Given the description of an element on the screen output the (x, y) to click on. 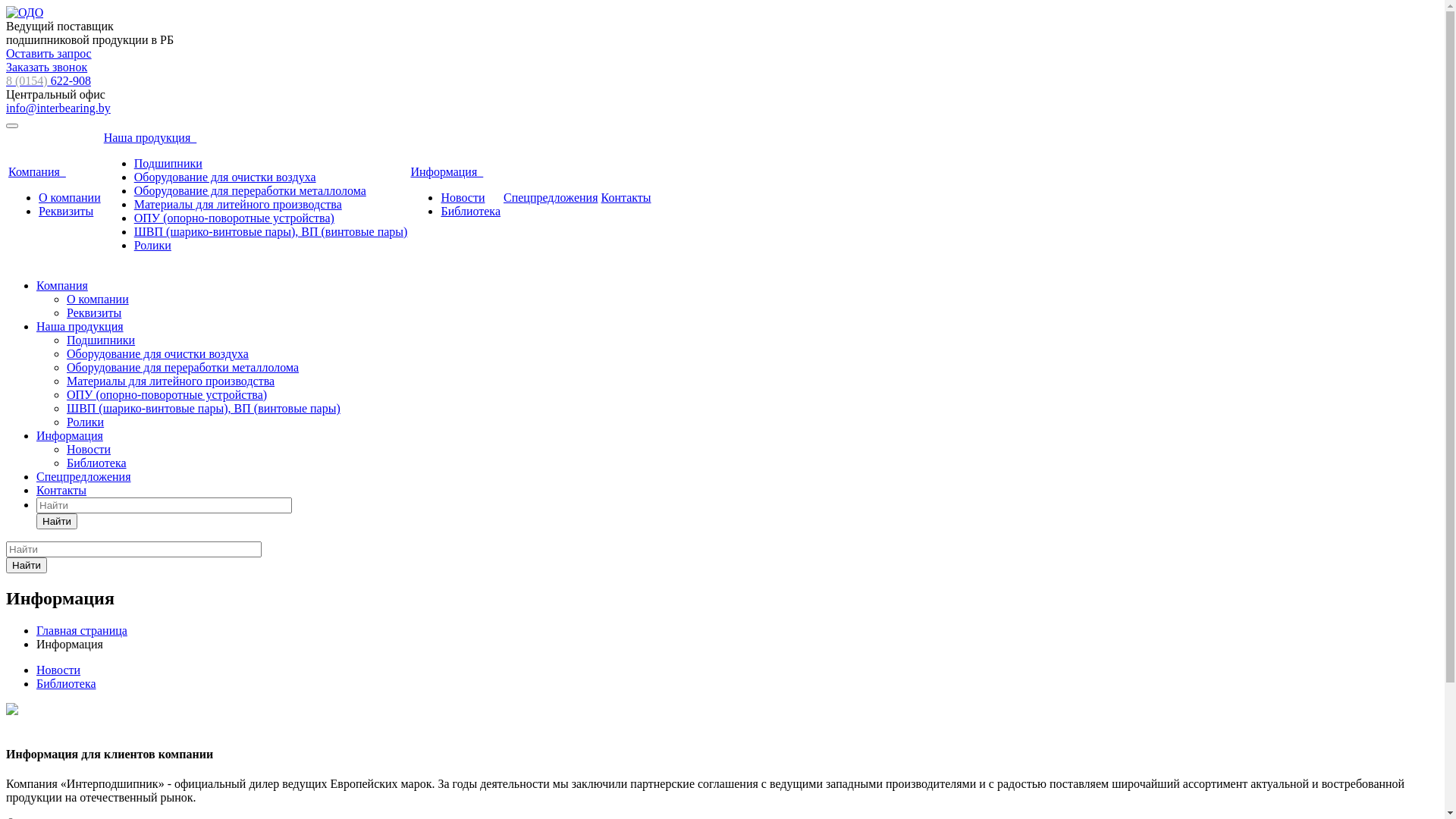
8 (0154) 622-908 Element type: text (48, 80)
info@interbearing.by Element type: text (58, 107)
